Given the description of an element on the screen output the (x, y) to click on. 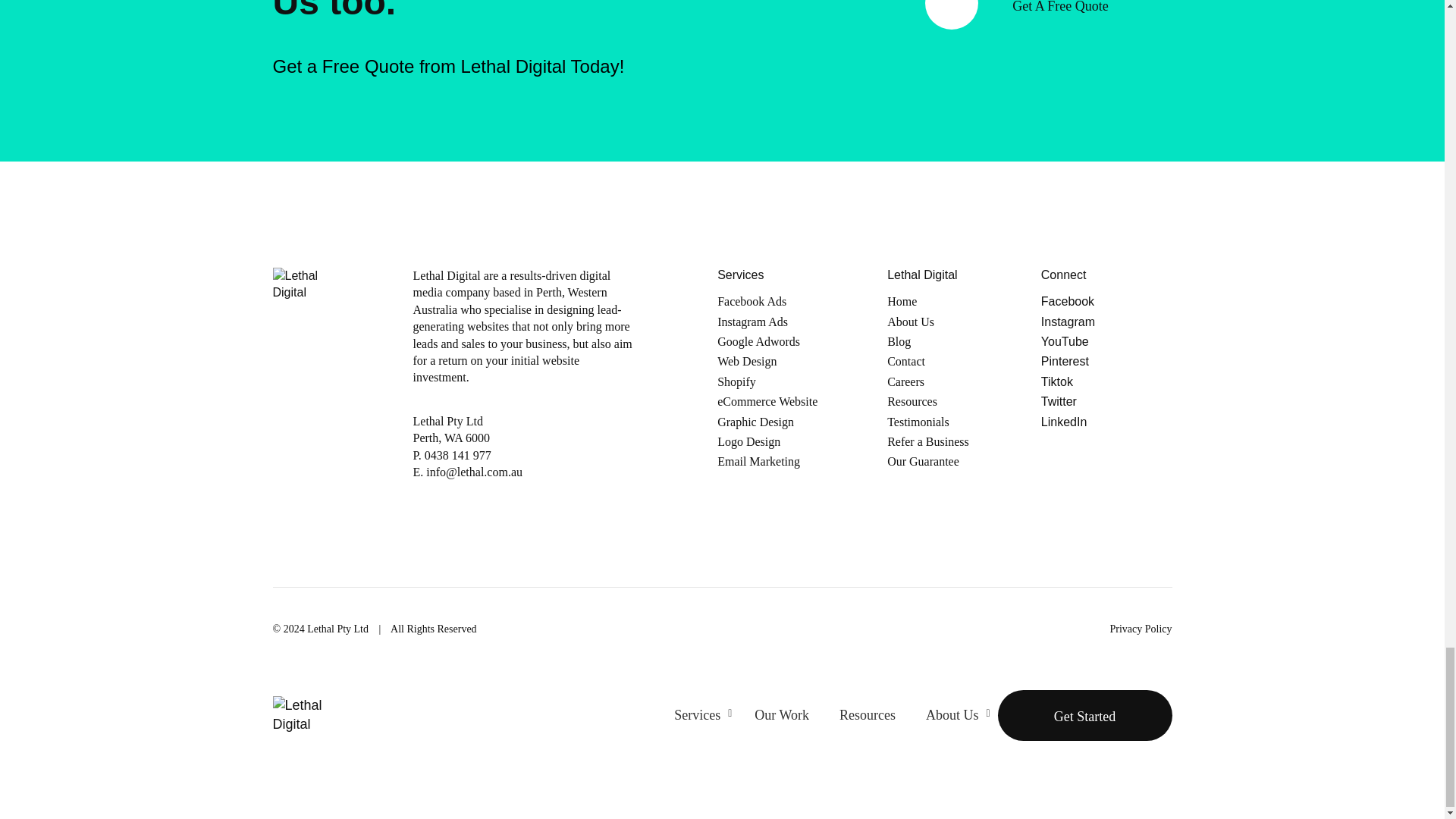
LinkedIn (1106, 422)
Facebook (1106, 301)
Pinterest (1106, 361)
Tiktok (1106, 381)
Instagram (1106, 321)
0438 141 977 (458, 454)
YouTube (1106, 341)
Get A Free Quote (1023, 16)
Twitter (1106, 401)
